Given the description of an element on the screen output the (x, y) to click on. 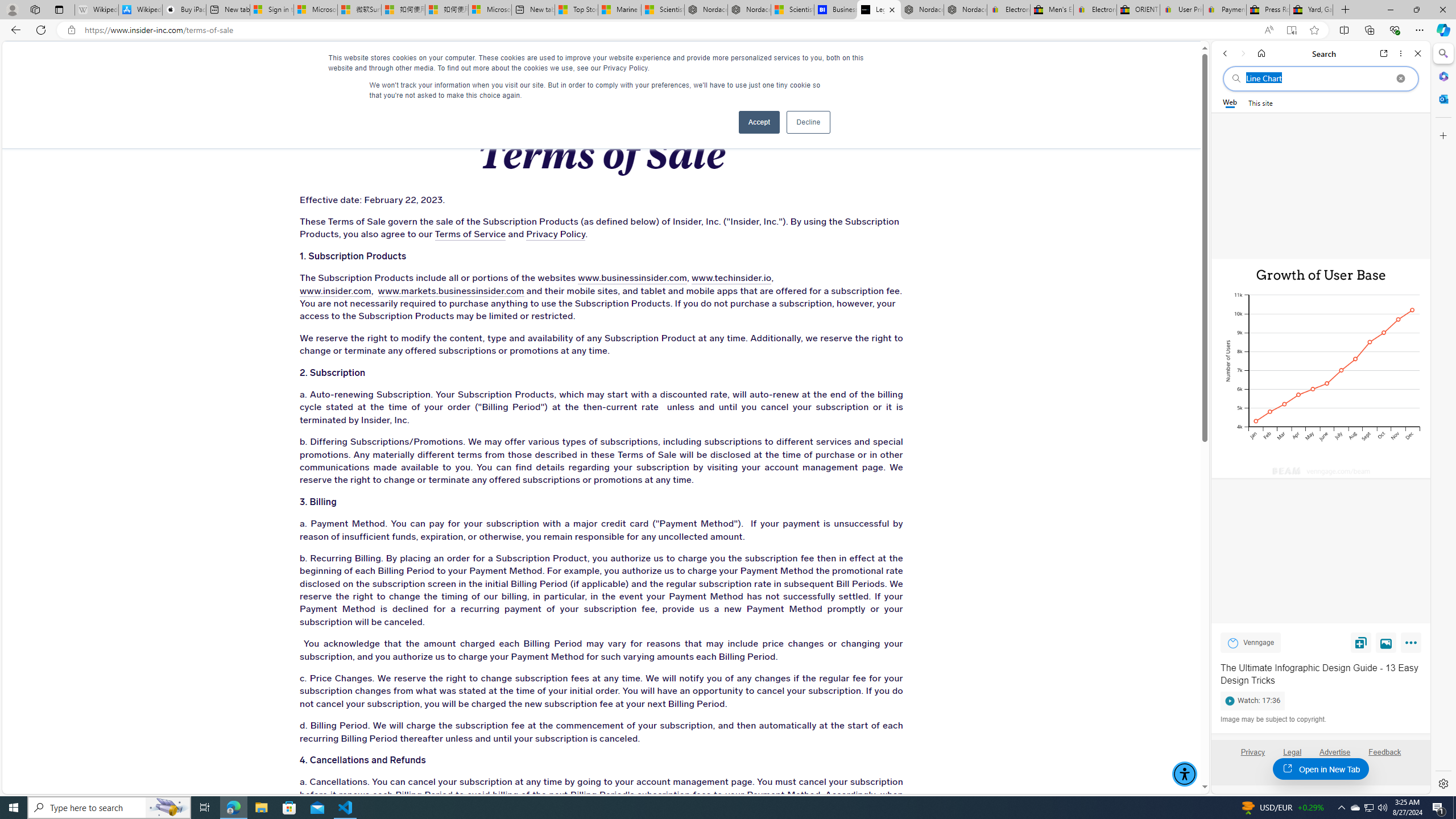
Insider Inc. (602, 63)
www.insider.com (334, 291)
Terms of Service (469, 234)
Privacy Policy (555, 234)
